Given the description of an element on the screen output the (x, y) to click on. 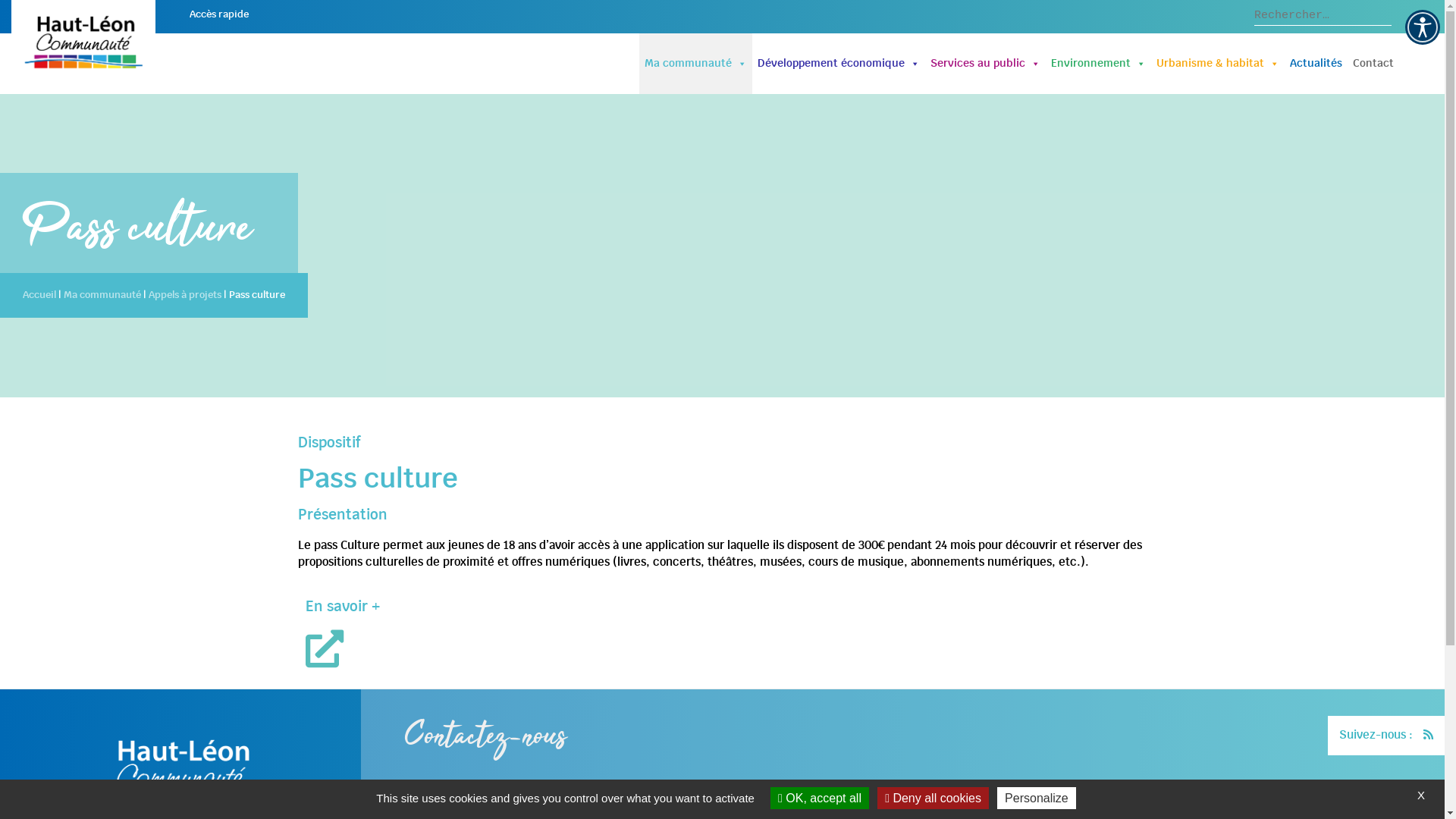
Services au public Element type: text (985, 63)
Contact Element type: text (1373, 63)
Suivez-nous : Element type: text (1375, 734)
Rechercher Element type: text (50, 17)
Deny all cookies Element type: text (932, 798)
Environnement Element type: text (1098, 63)
OK, accept all Element type: text (819, 798)
Personalize Element type: text (1036, 798)
Accueil Element type: text (39, 295)
Urbanisme & habitat Element type: text (1217, 63)
